Given the description of an element on the screen output the (x, y) to click on. 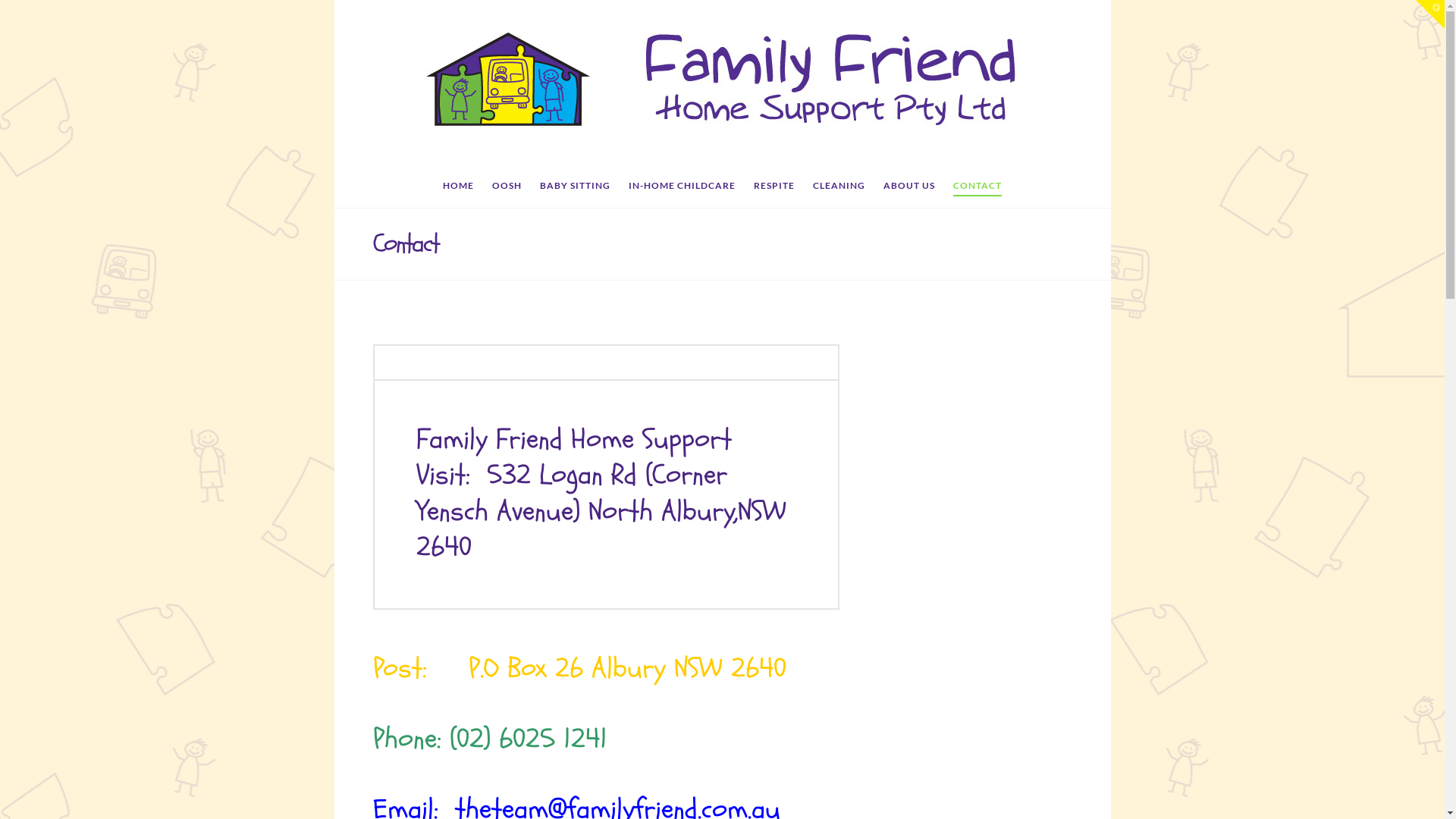
HOME Element type: text (458, 188)
BABY SITTING Element type: text (574, 188)
ABOUT US Element type: text (909, 188)
IN-HOME CHILDCARE Element type: text (681, 188)
Toggle the Widgetbar Element type: text (1429, 14)
CLEANING Element type: text (838, 188)
CONTACT Element type: text (977, 188)
RESPITE Element type: text (773, 188)
OOSH Element type: text (506, 188)
